Given the description of an element on the screen output the (x, y) to click on. 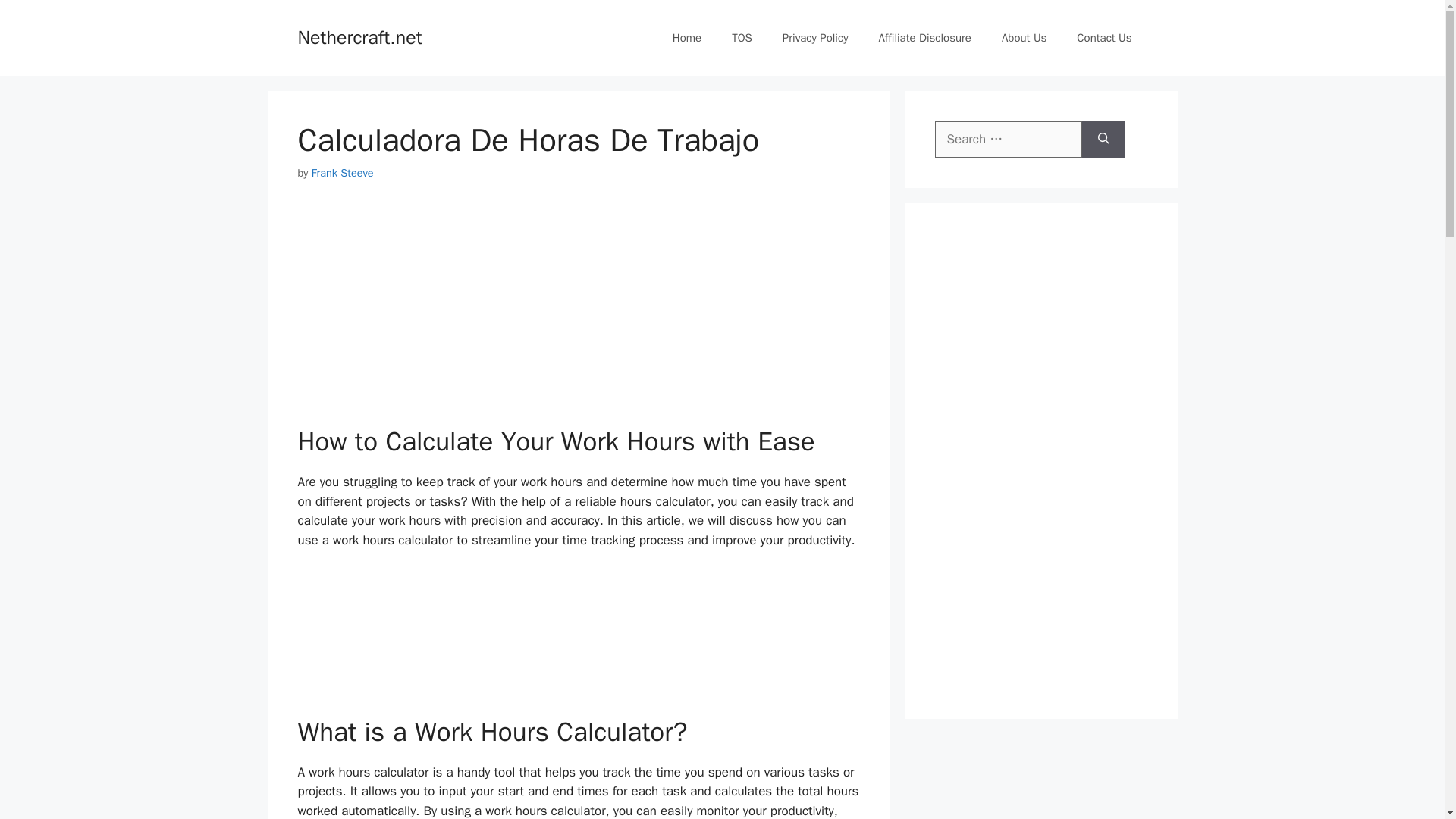
View all posts by Frank Steeve (342, 172)
TOS (741, 37)
Privacy Policy (815, 37)
Frank Steeve (342, 172)
Affiliate Disclosure (925, 37)
Nethercraft.net (359, 37)
Home (687, 37)
Search for: (1007, 139)
About Us (1024, 37)
Contact Us (1104, 37)
